Given the description of an element on the screen output the (x, y) to click on. 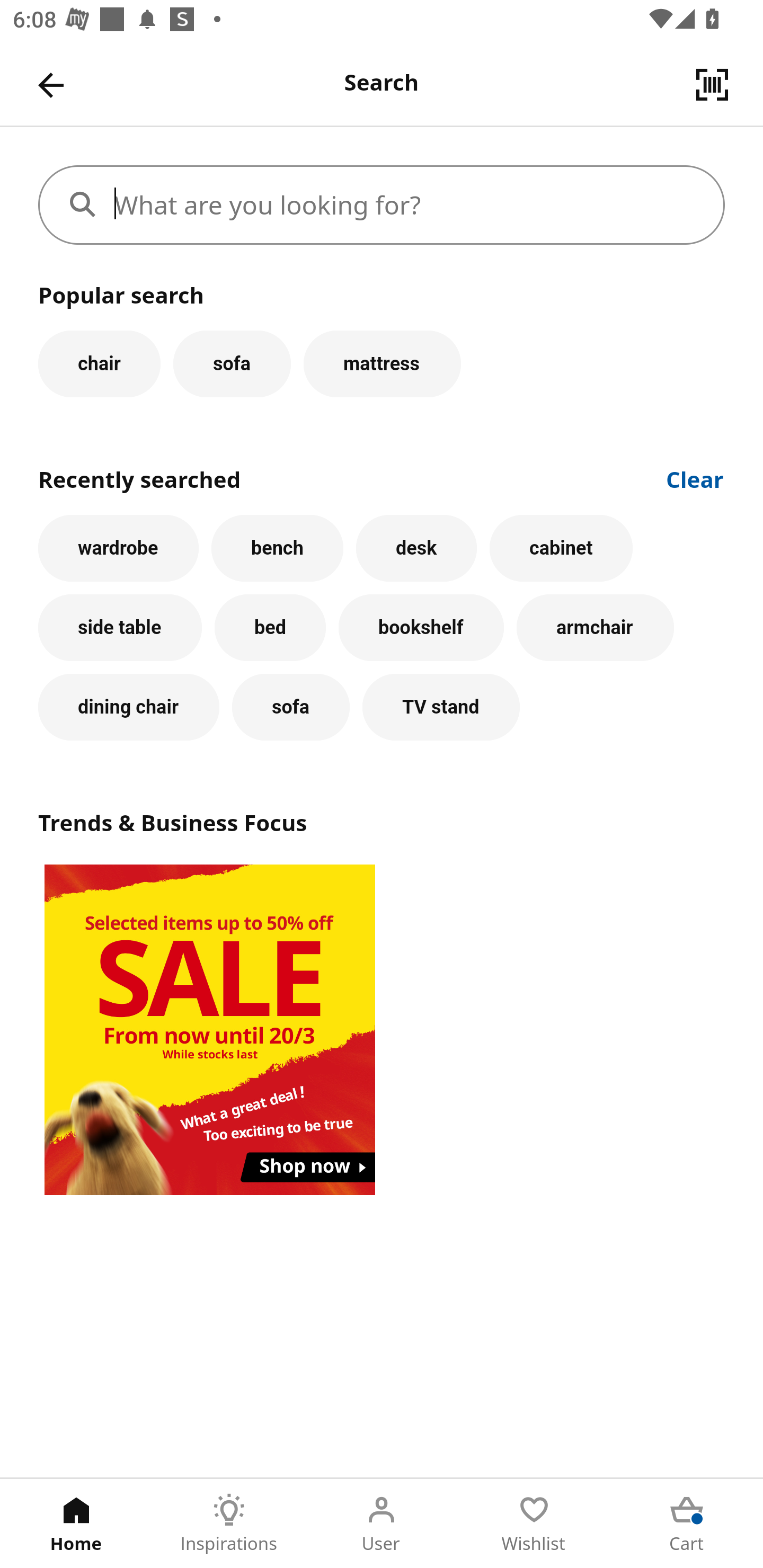
chair (99, 363)
sofa (231, 363)
mattress (381, 363)
Clear (695, 477)
wardrobe (118, 547)
bench (277, 547)
desk (416, 547)
cabinet (560, 547)
side table (120, 627)
bed (269, 627)
bookshelf (420, 627)
armchair (594, 627)
dining chair (128, 707)
sofa (290, 707)
TV stand (440, 707)
Home
Tab 1 of 5 (76, 1522)
Inspirations
Tab 2 of 5 (228, 1522)
User
Tab 3 of 5 (381, 1522)
Wishlist
Tab 4 of 5 (533, 1522)
Cart
Tab 5 of 5 (686, 1522)
